Given the description of an element on the screen output the (x, y) to click on. 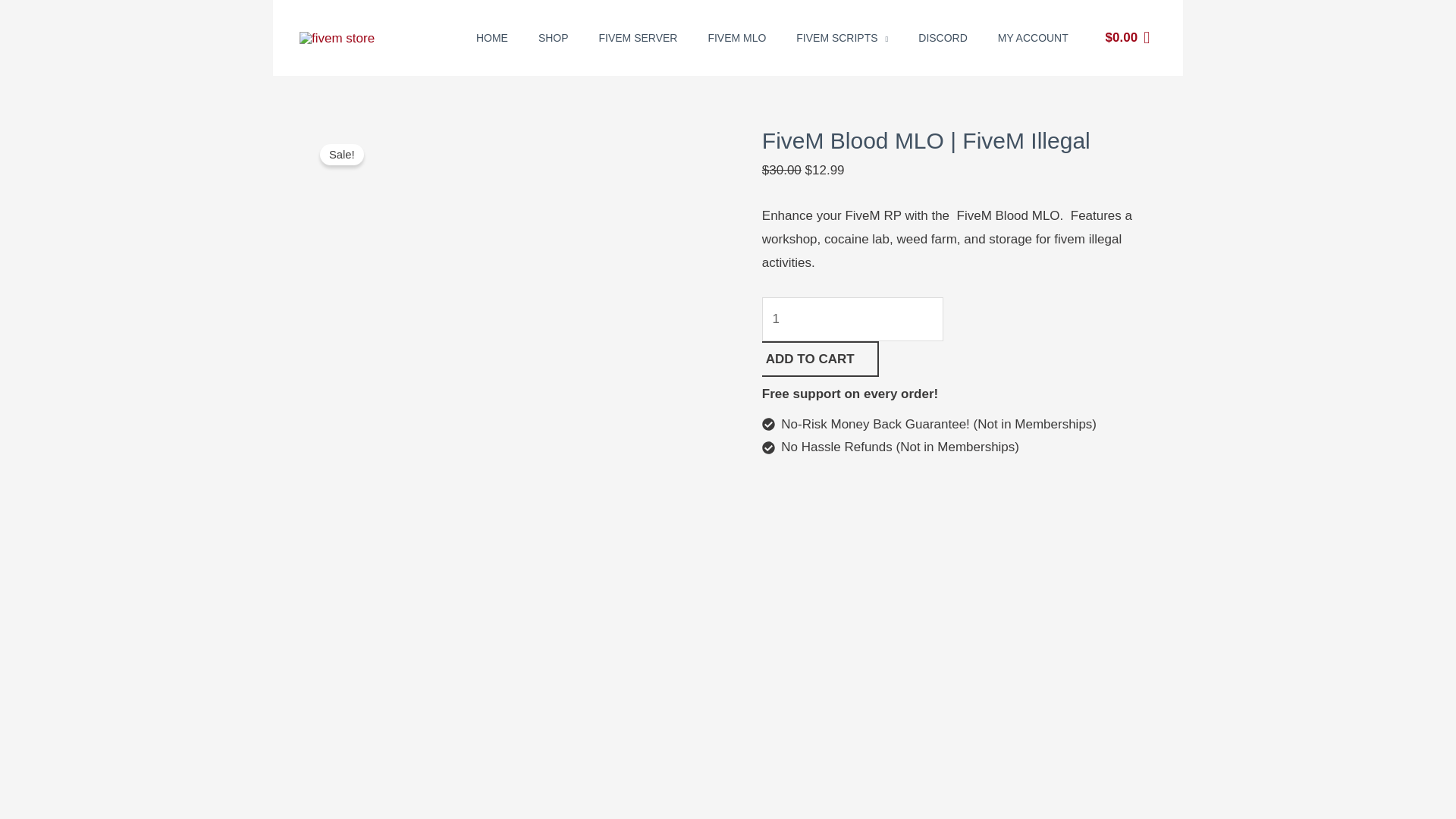
FIVEM MLO (736, 38)
ADD TO CART (820, 358)
FIVEM SERVER (638, 38)
DISCORD (942, 38)
FIVEM SCRIPTS (841, 38)
1 (852, 319)
MY ACCOUNT (1032, 38)
